Given the description of an element on the screen output the (x, y) to click on. 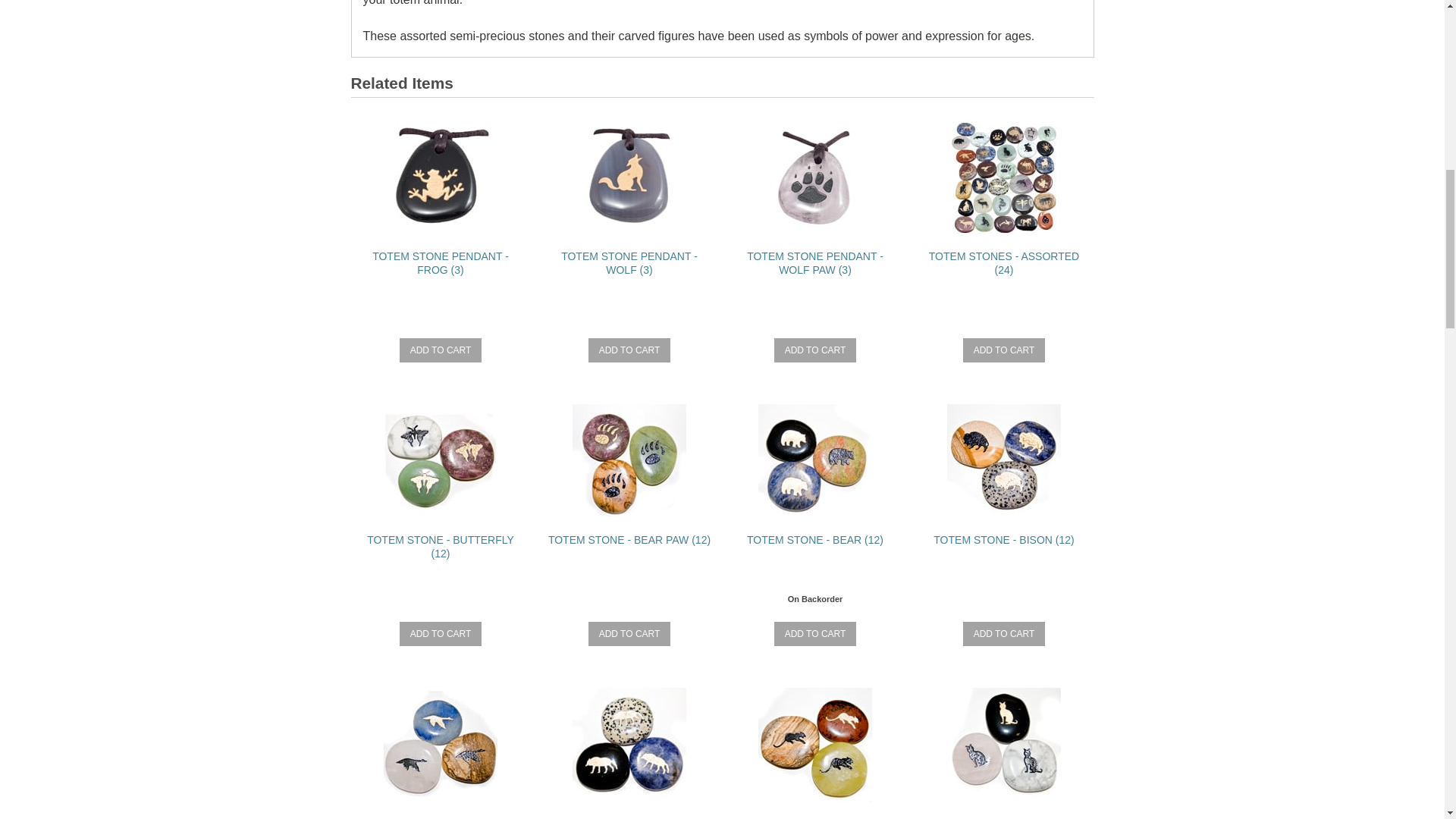
Add To Cart (629, 350)
Add To Cart (1003, 350)
Add To Cart (439, 633)
Add To Cart (629, 633)
Add To Cart (1003, 633)
Add To Cart (439, 350)
Add To Cart (815, 350)
Add To Cart (815, 633)
